Given the description of an element on the screen output the (x, y) to click on. 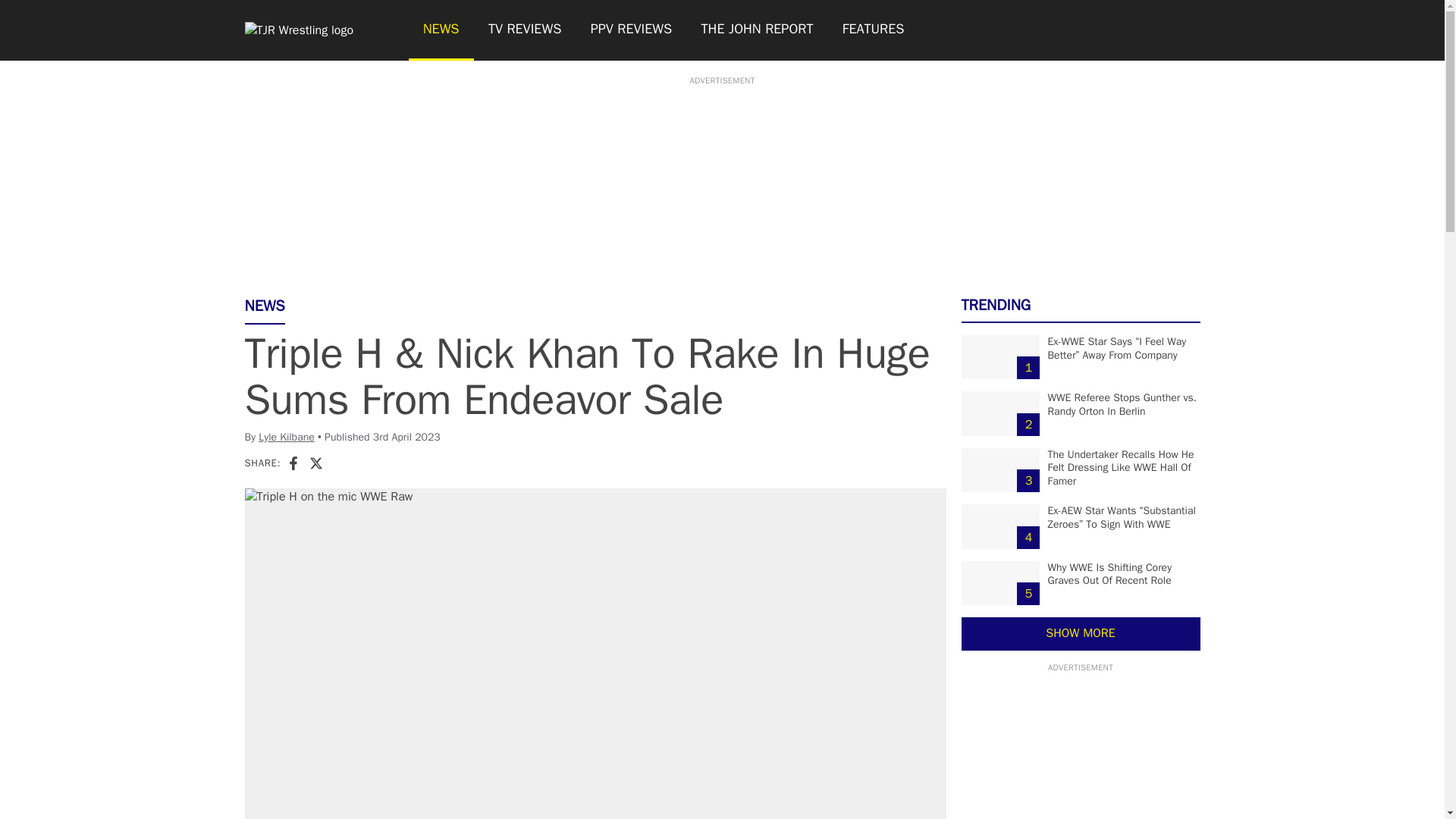
X (315, 463)
Lyle Kilbane (286, 436)
TV REVIEWS (525, 30)
PPV REVIEWS (631, 30)
Facebook (292, 462)
FEATURES (873, 30)
NEWS (440, 30)
THE JOHN REPORT (756, 30)
Facebook (292, 463)
X (315, 462)
